Given the description of an element on the screen output the (x, y) to click on. 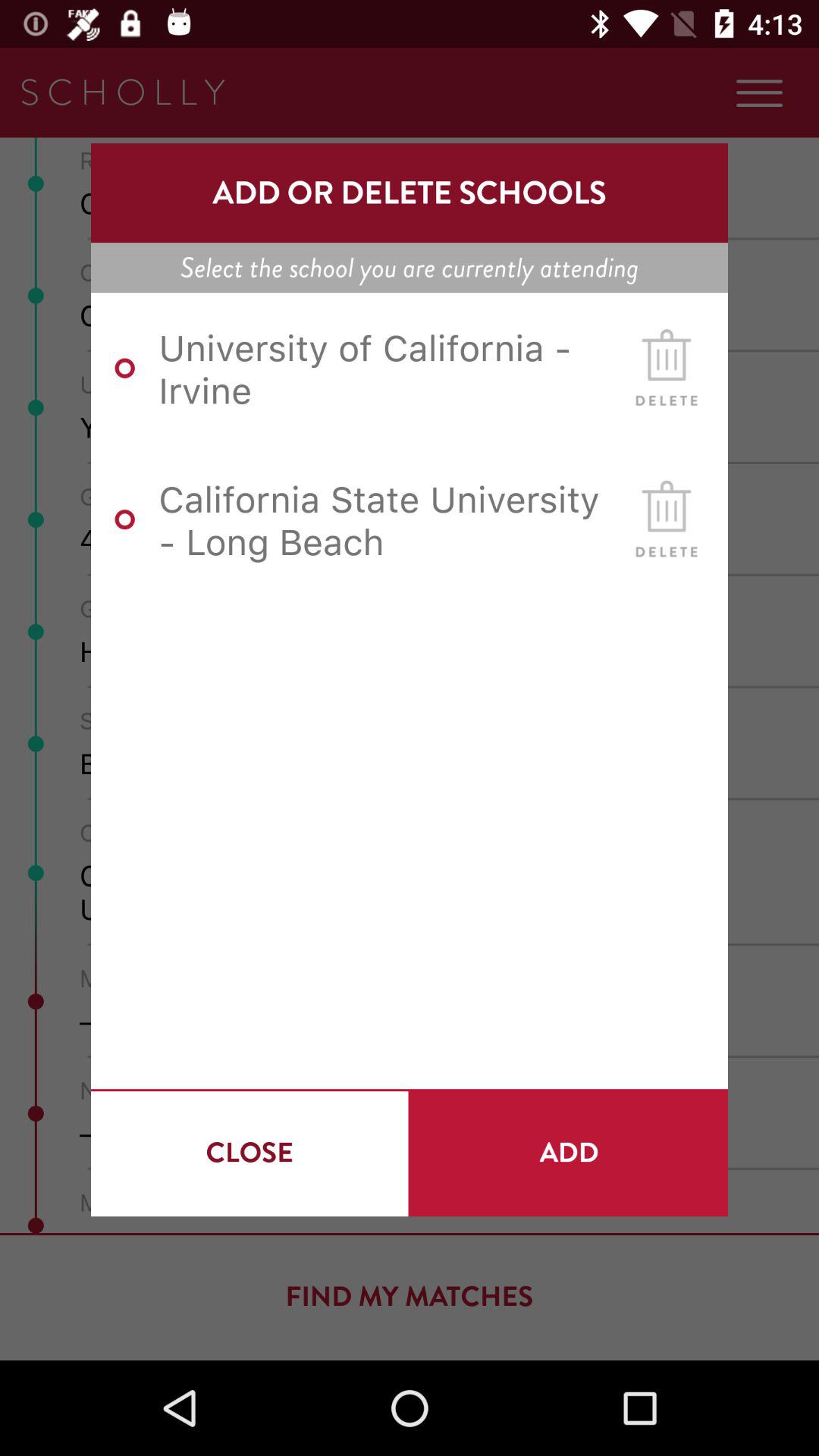
flip to close item (249, 1152)
